Given the description of an element on the screen output the (x, y) to click on. 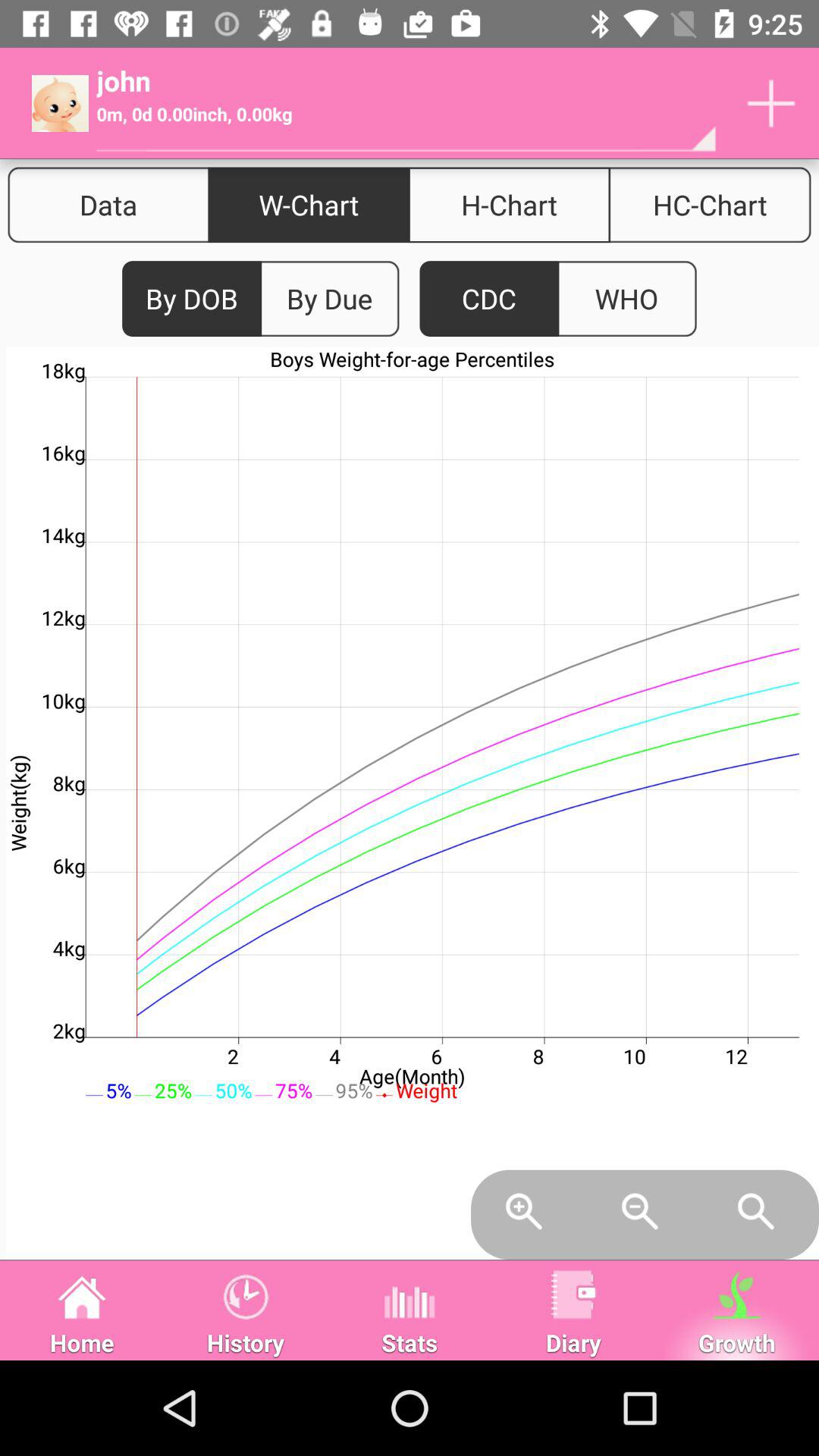
launch the h-chart icon (509, 204)
